Given the description of an element on the screen output the (x, y) to click on. 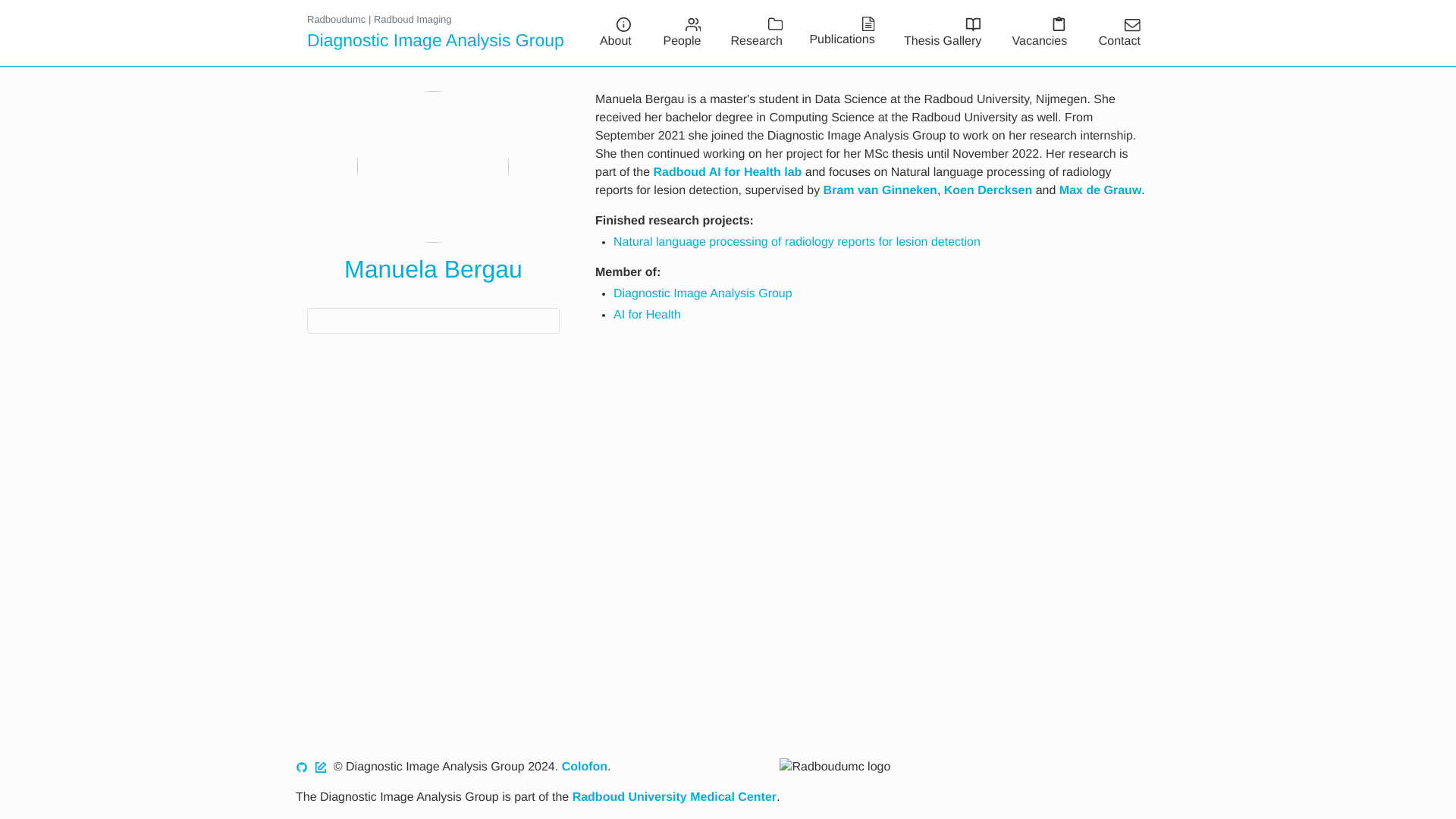
Radboud University Medical Center (674, 797)
Max de Grauw (1100, 190)
Bram van Ginneken (880, 190)
Diagnostic Image Analysis Group (435, 41)
Our GitHub repository (301, 766)
Edit on Github (320, 766)
Radboud AI for Health lab (727, 172)
Radboudumc (336, 19)
Research (751, 32)
People (675, 32)
About (608, 32)
Vacancies (1032, 32)
Koen Dercksen (987, 190)
Radboud Imaging (412, 19)
